Given the description of an element on the screen output the (x, y) to click on. 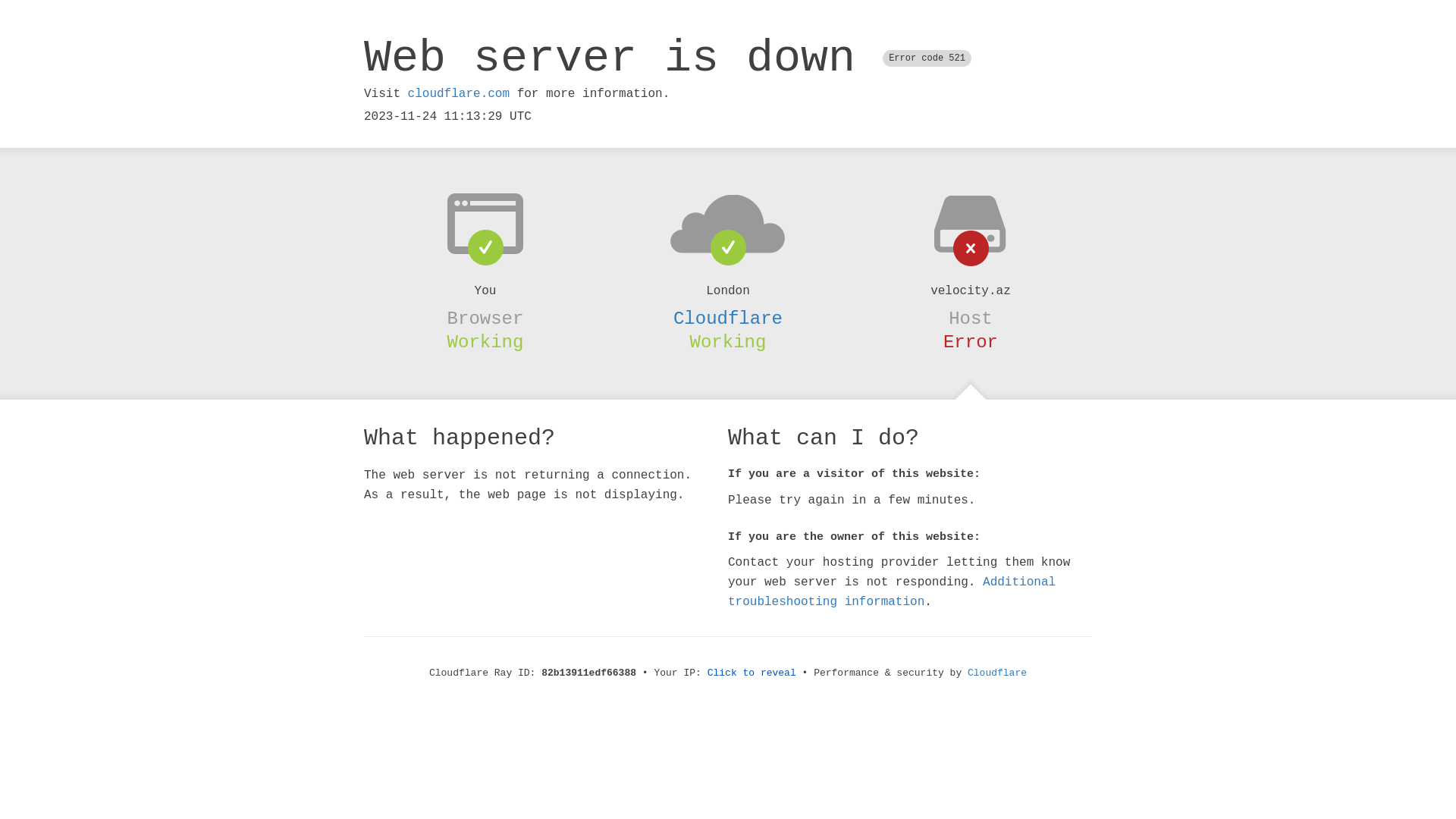
Click to reveal Element type: text (751, 672)
Cloudflare Element type: text (727, 318)
Additional troubleshooting information Element type: text (891, 591)
Cloudflare Element type: text (996, 672)
cloudflare.com Element type: text (458, 93)
